Given the description of an element on the screen output the (x, y) to click on. 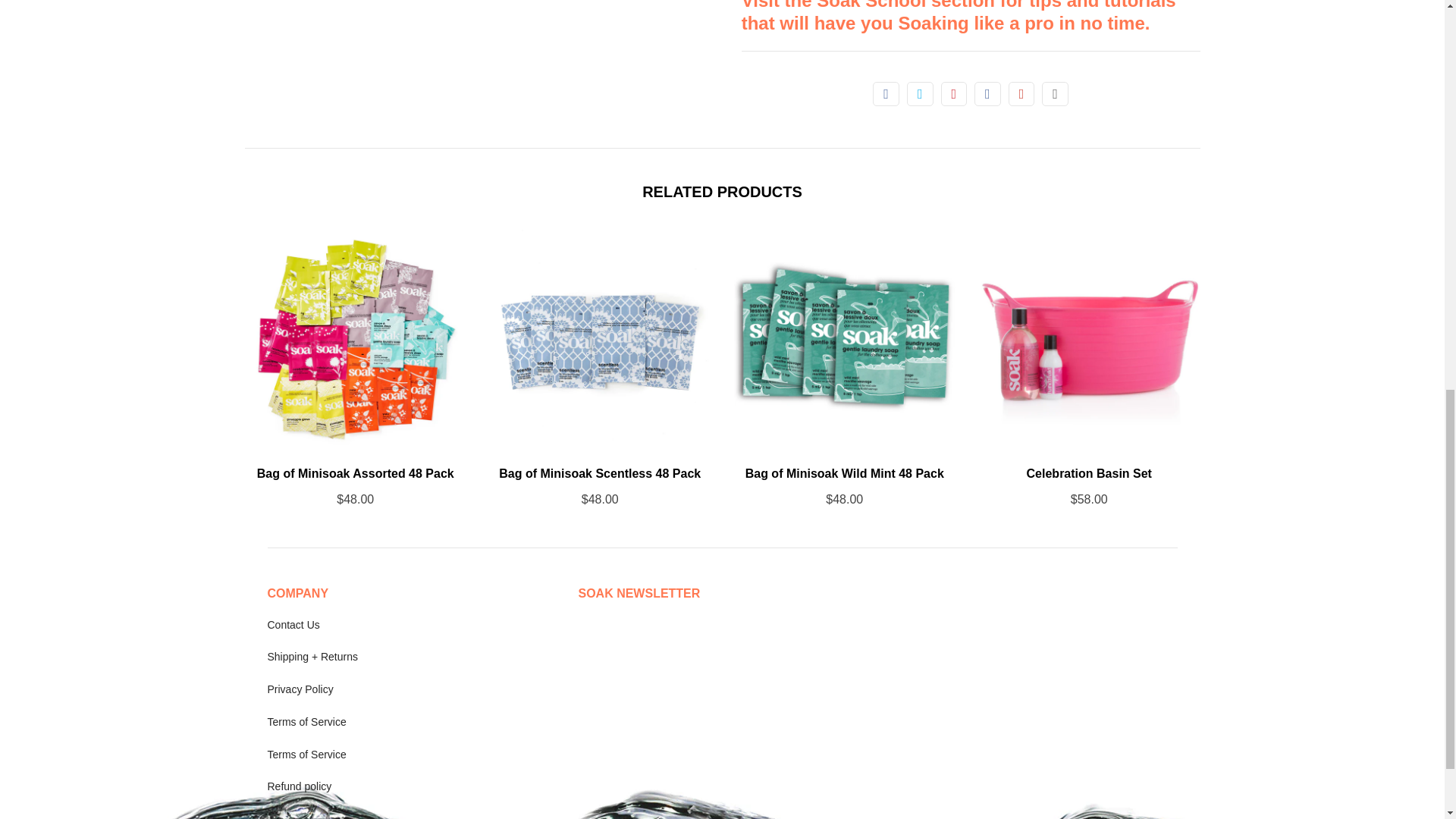
Soak School (958, 16)
